Given the description of an element on the screen output the (x, y) to click on. 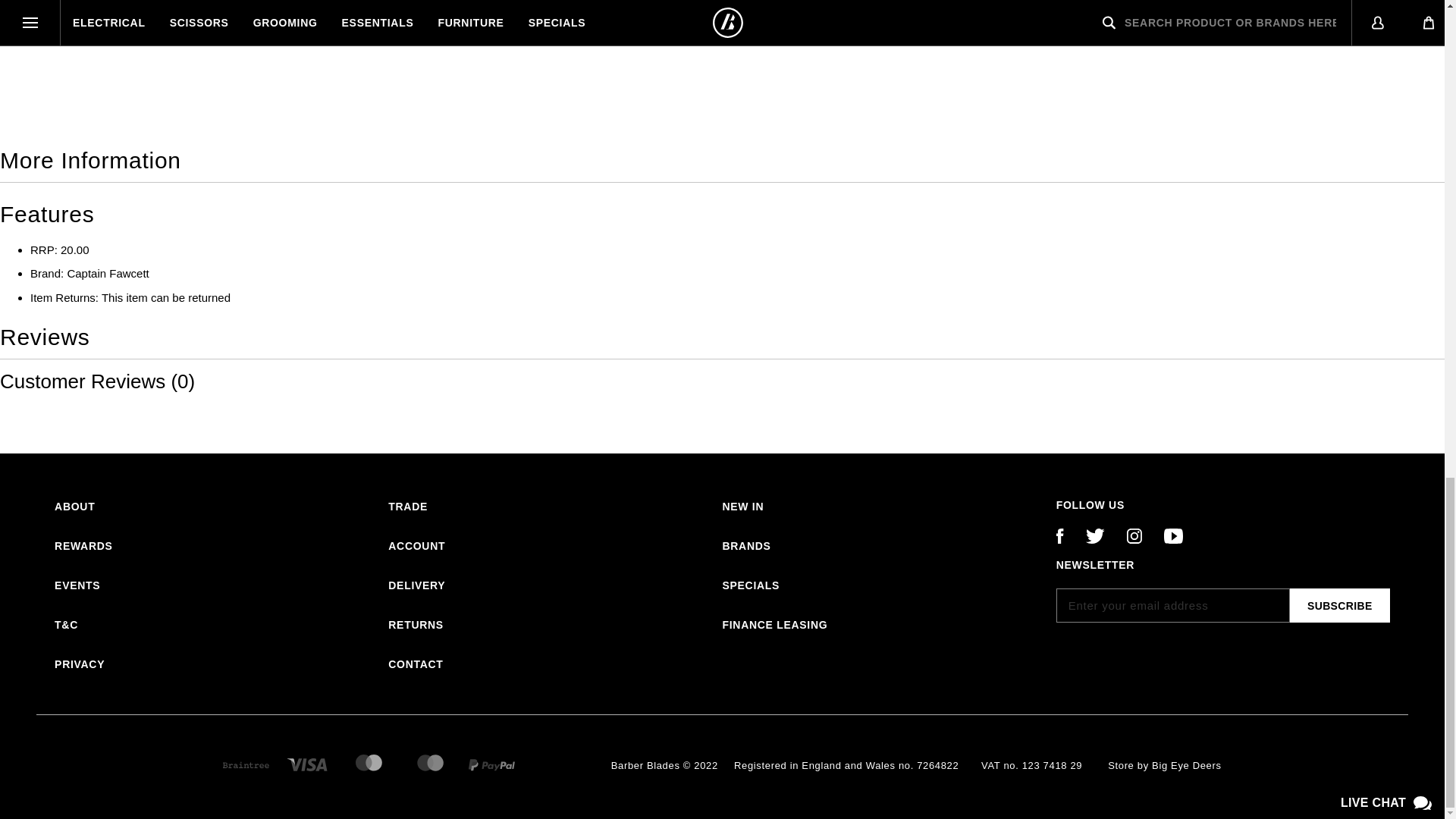
Delivery (416, 585)
Account (416, 546)
Trade (408, 507)
About (74, 507)
Rewards (83, 546)
Privacy (79, 664)
